Given the description of an element on the screen output the (x, y) to click on. 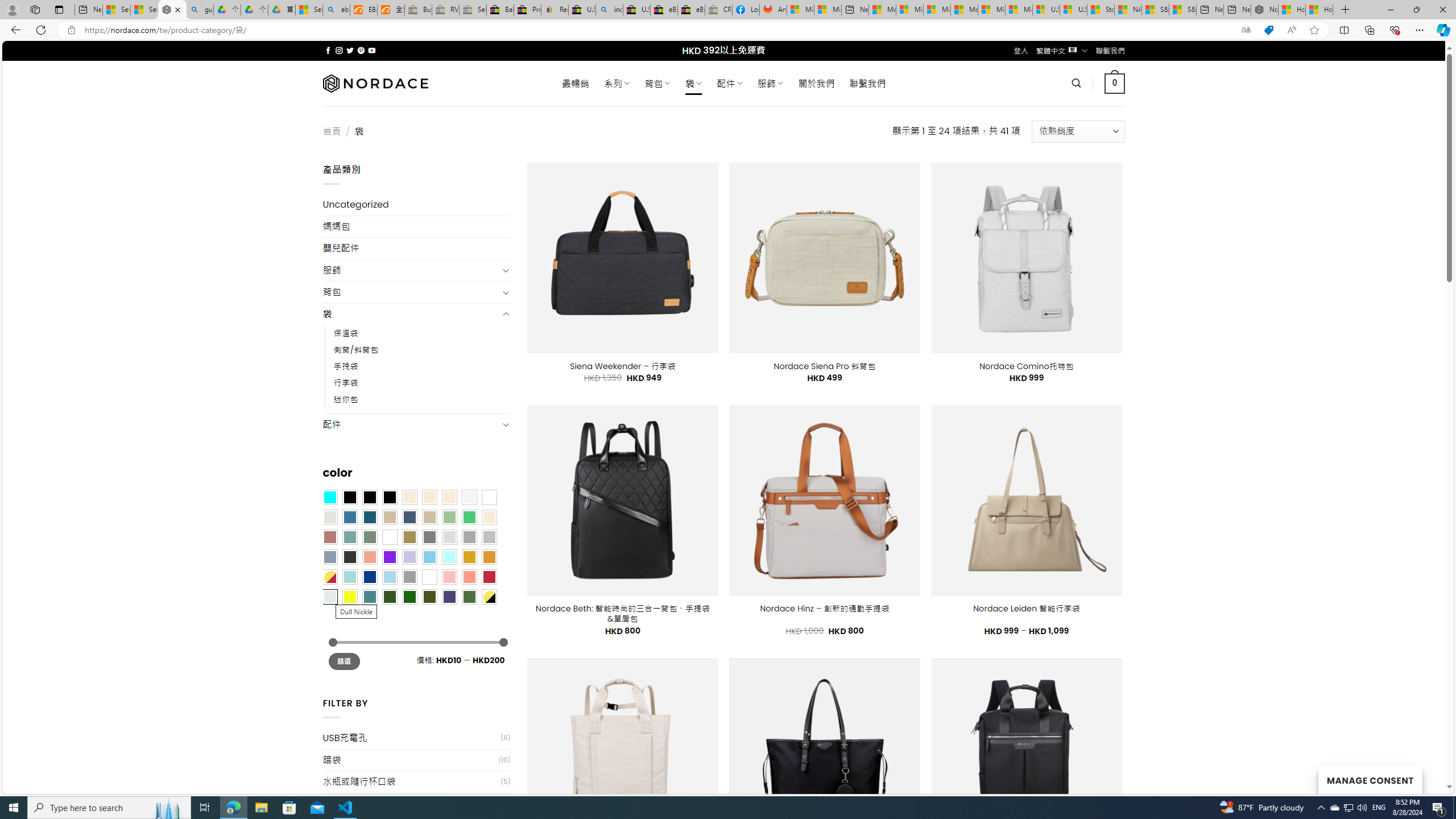
U.S. State Privacy Disclosures - eBay Inc. (636, 9)
